Given the description of an element on the screen output the (x, y) to click on. 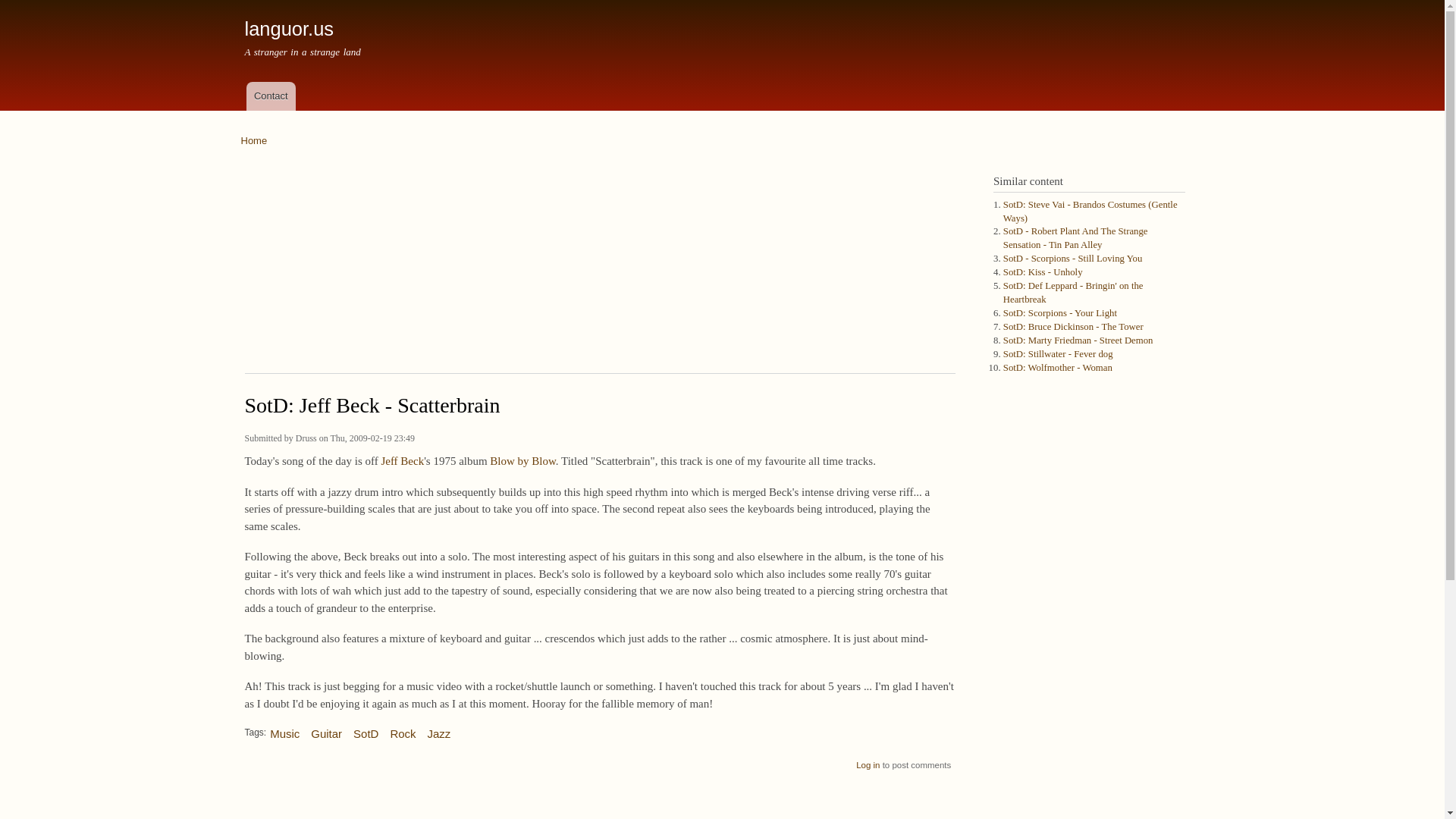
SotD: Kiss - Unholy (1043, 271)
SotD: Wolfmother - Woman (1057, 367)
Skip to main content (690, 1)
Advertisement (599, 796)
languor.us (288, 28)
Home (254, 140)
Home (288, 28)
Music (284, 728)
Guitar (326, 728)
SotD: Def Leppard - Bringin' on the Heartbreak (1072, 292)
Contact (270, 95)
SotD: Scorpions - Your Light (1059, 312)
Jeff Beck (401, 460)
